Given the description of an element on the screen output the (x, y) to click on. 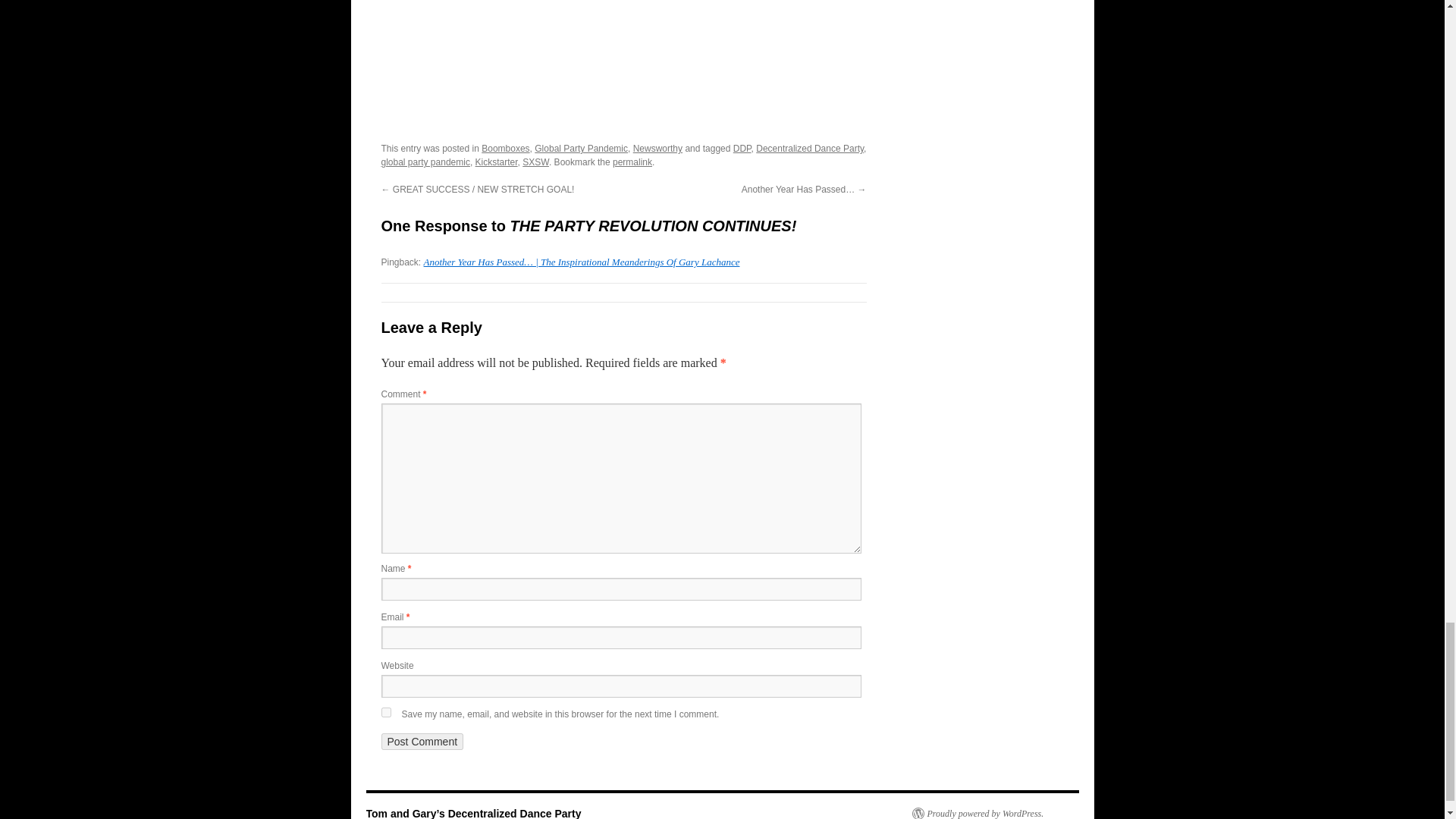
Post Comment (421, 741)
yes (385, 712)
Permalink to THE PARTY REVOLUTION CONTINUES! (632, 162)
